Given the description of an element on the screen output the (x, y) to click on. 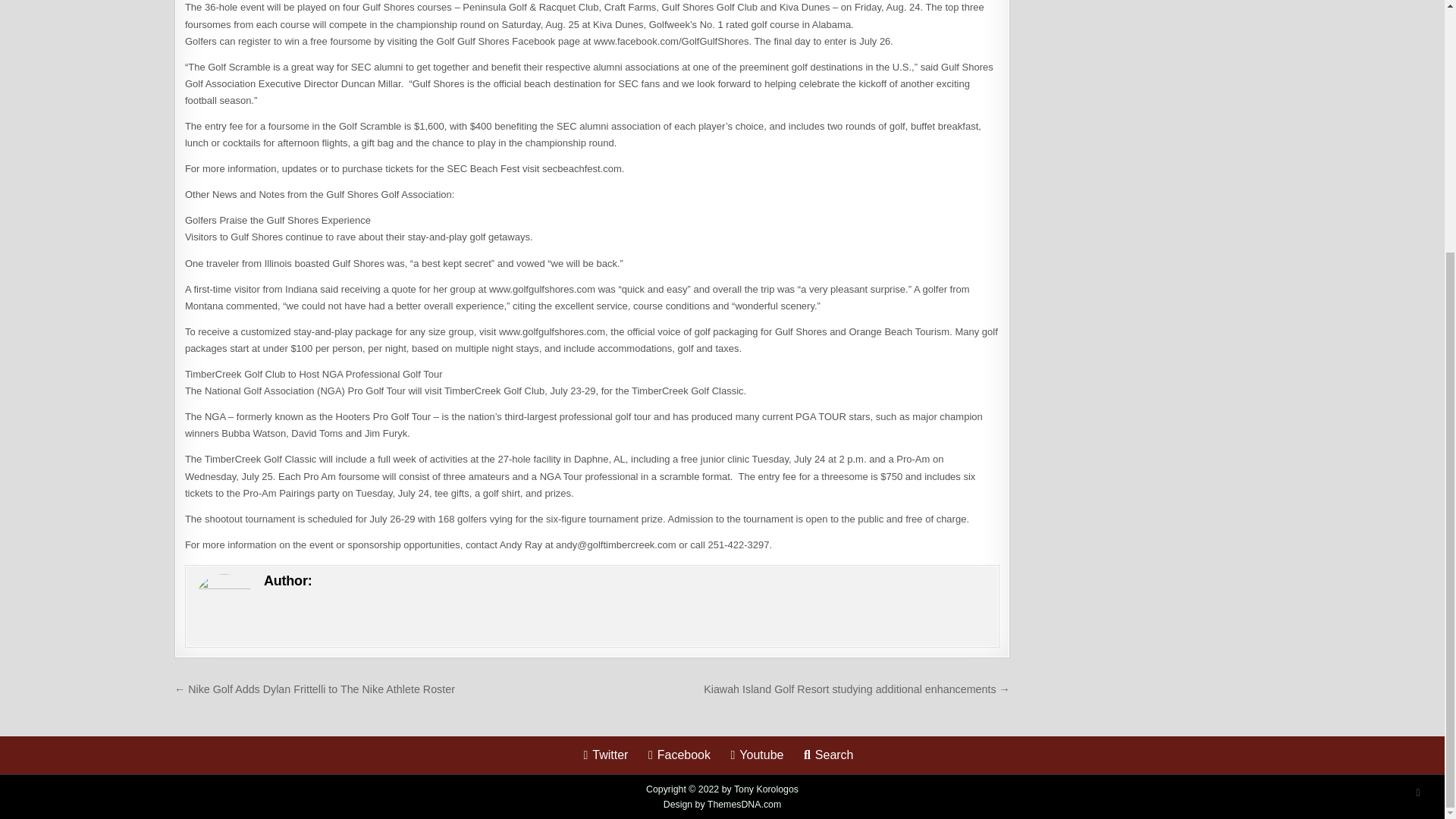
Youtube (756, 754)
Facebook (678, 754)
SCROLL TO TOP (1417, 436)
SCROLL TO TOP (1417, 436)
Design by ThemesDNA.com (722, 804)
Scroll to Top (1417, 436)
Search (829, 754)
Twitter (604, 754)
